Given the description of an element on the screen output the (x, y) to click on. 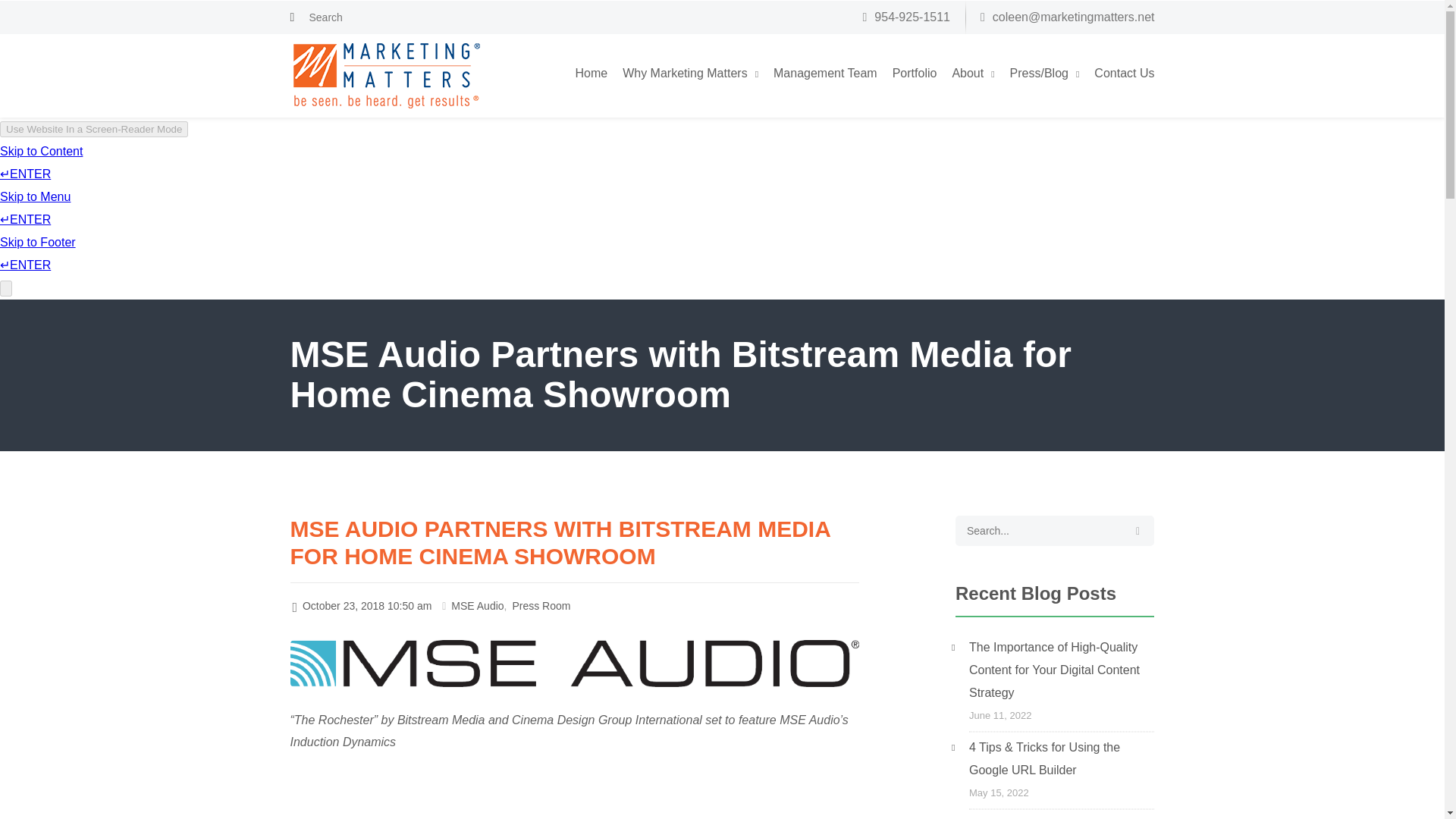
About (973, 71)
Start Search (1137, 530)
Portfolio (914, 71)
MSE Audio (477, 605)
Contact Us (1124, 71)
October 23, 2018 10:50 am (362, 605)
Home (591, 71)
Why Marketing Matters (690, 71)
954-925-1511 (906, 17)
Press Room (541, 605)
